Given the description of an element on the screen output the (x, y) to click on. 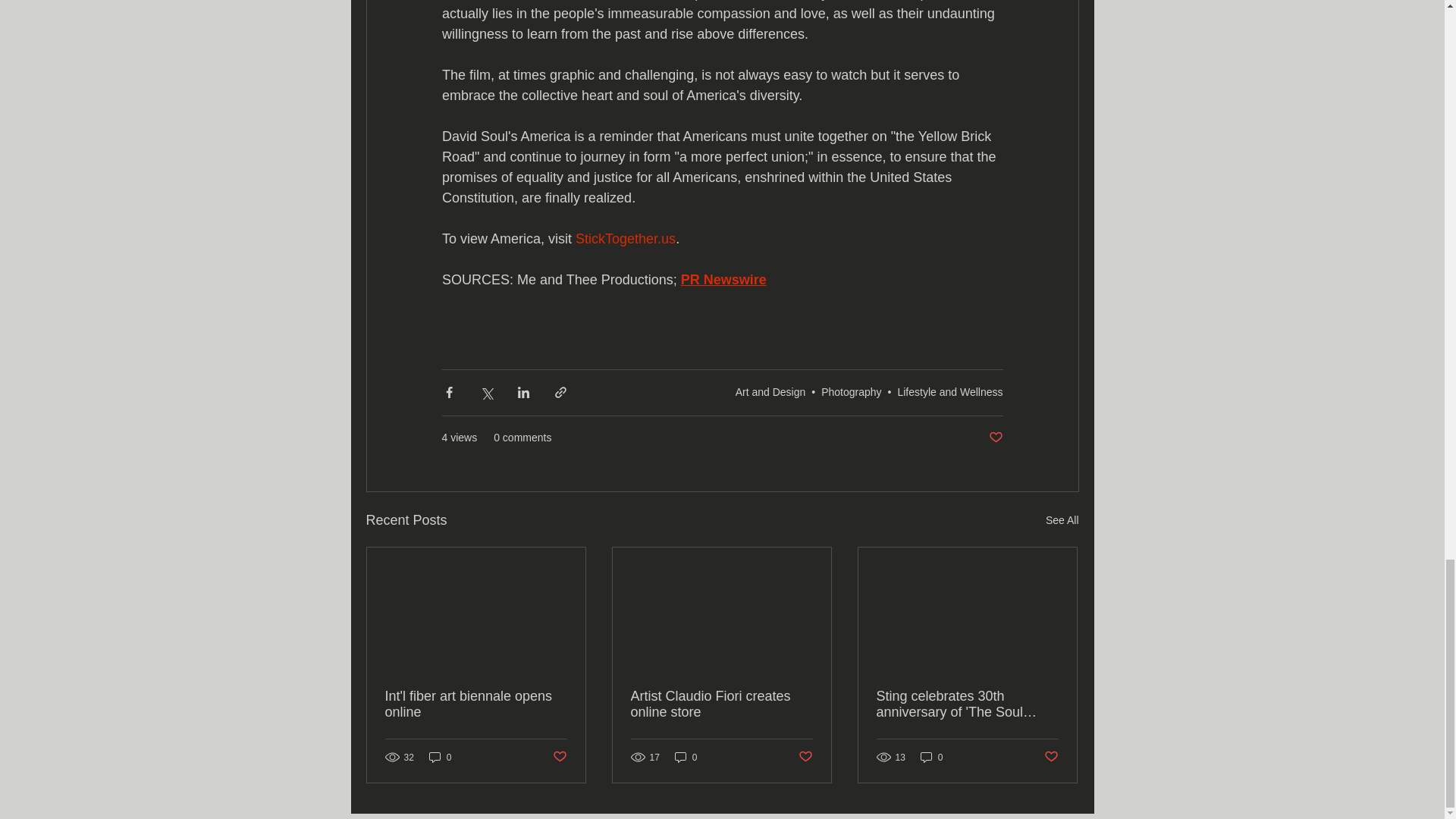
Post not marked as liked (558, 756)
Photography (850, 391)
0 (931, 757)
Artist Claudio Fiori creates online store (721, 704)
Post not marked as liked (995, 437)
Post not marked as liked (1050, 756)
0 (440, 757)
Post not marked as liked (804, 756)
PR Newswire (722, 279)
Int'l fiber art biennale opens online (476, 704)
